Given the description of an element on the screen output the (x, y) to click on. 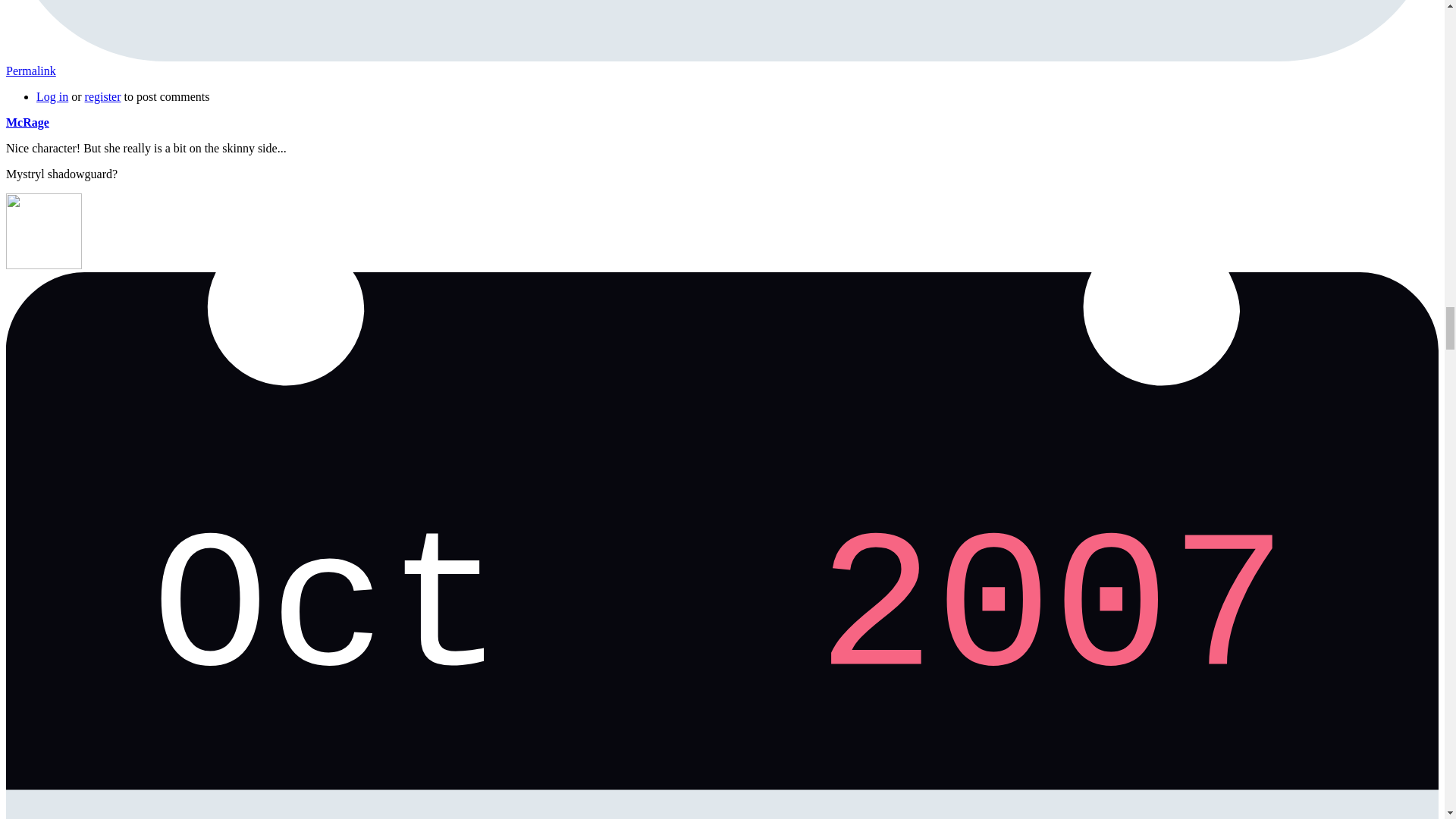
McRage (27, 122)
Log in (52, 96)
View user profile. (27, 122)
register (102, 96)
Permalink (30, 70)
